Given the description of an element on the screen output the (x, y) to click on. 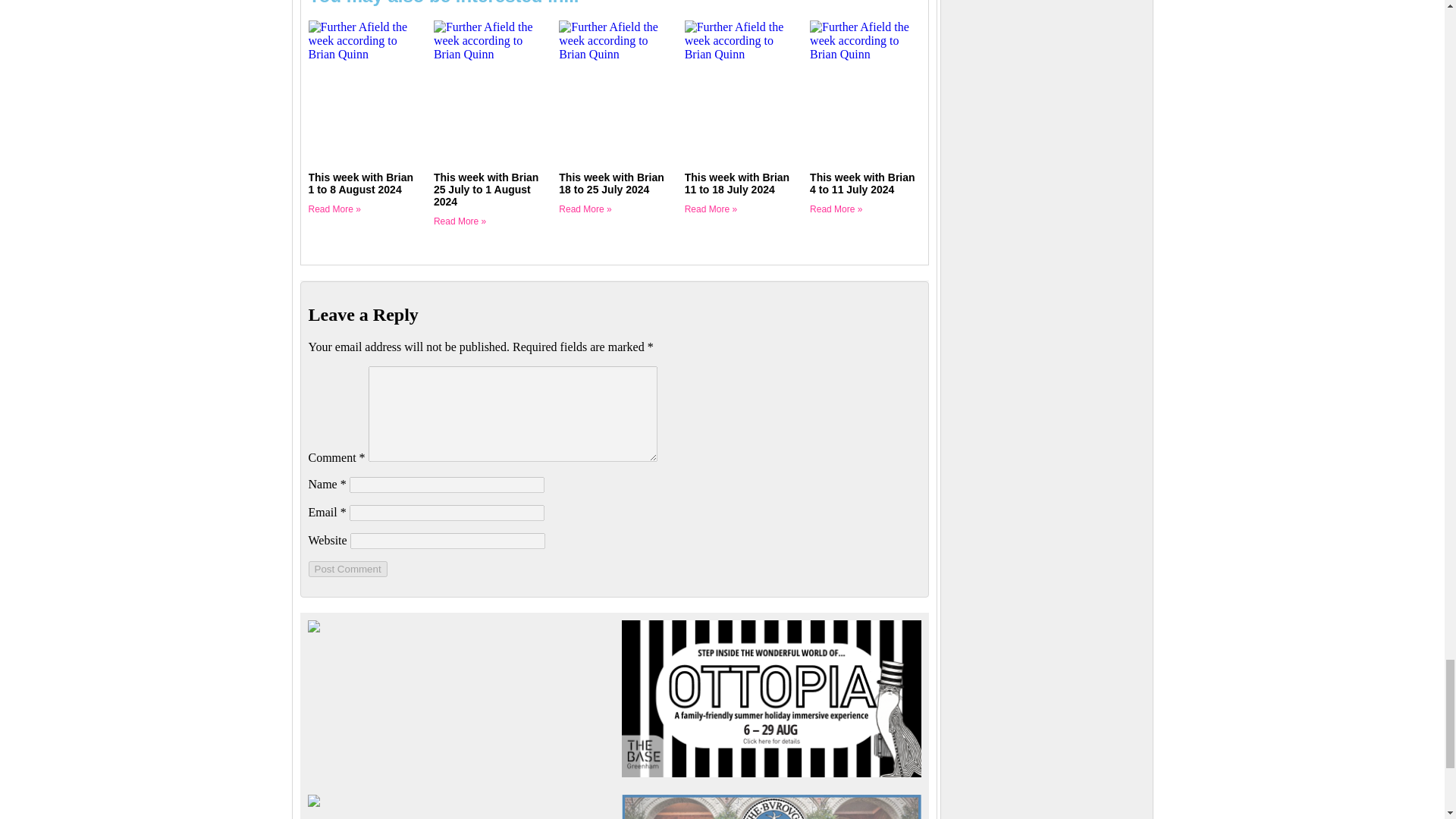
Post Comment (347, 569)
